Given the description of an element on the screen output the (x, y) to click on. 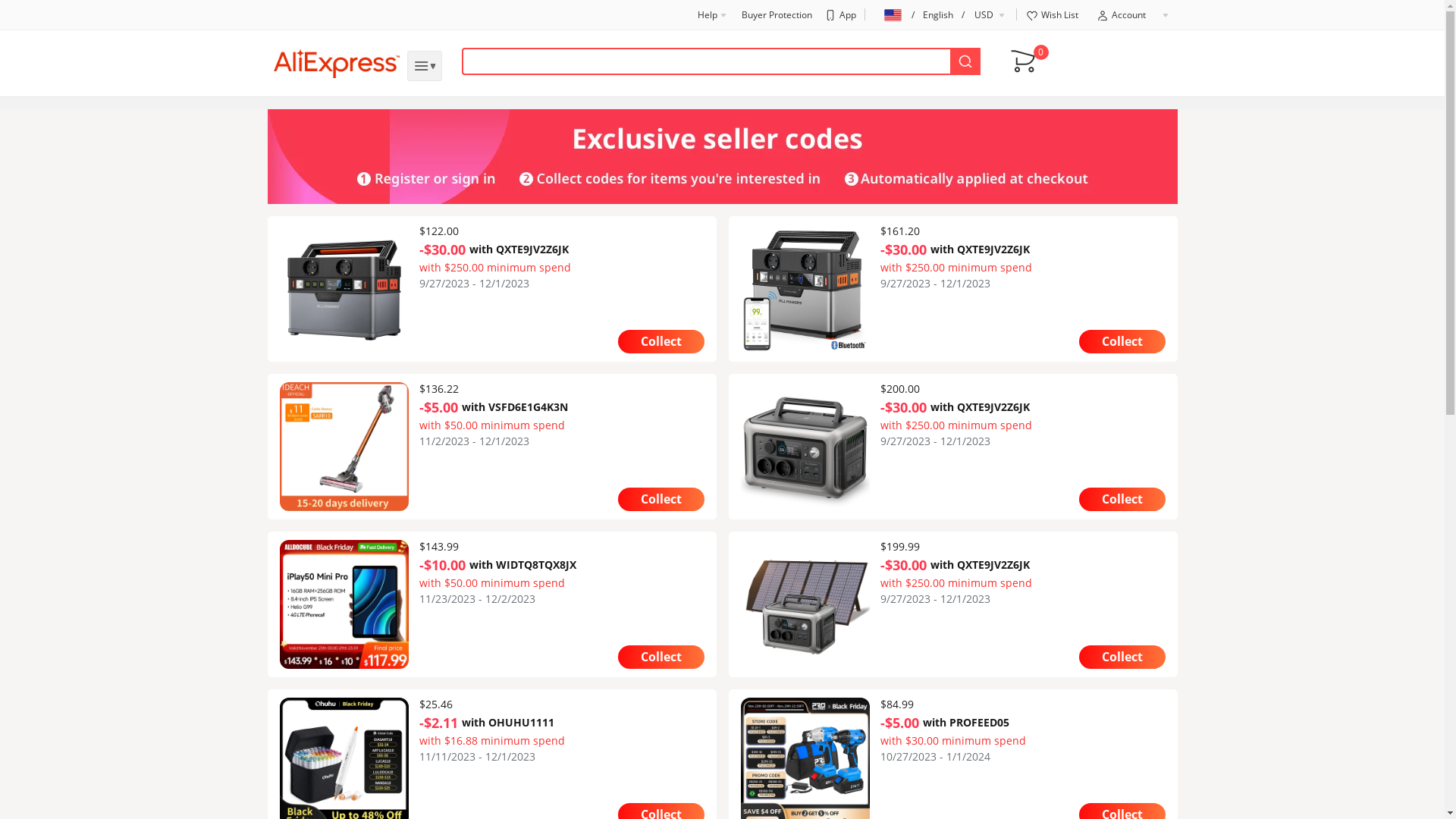
App Element type: text (839, 14)
0 Element type: text (1022, 58)
Buyer Protection Element type: text (776, 14)
Wish List Element type: text (1051, 14)
Account Element type: text (1132, 14)
AliExpress Element type: text (335, 64)
